Given the description of an element on the screen output the (x, y) to click on. 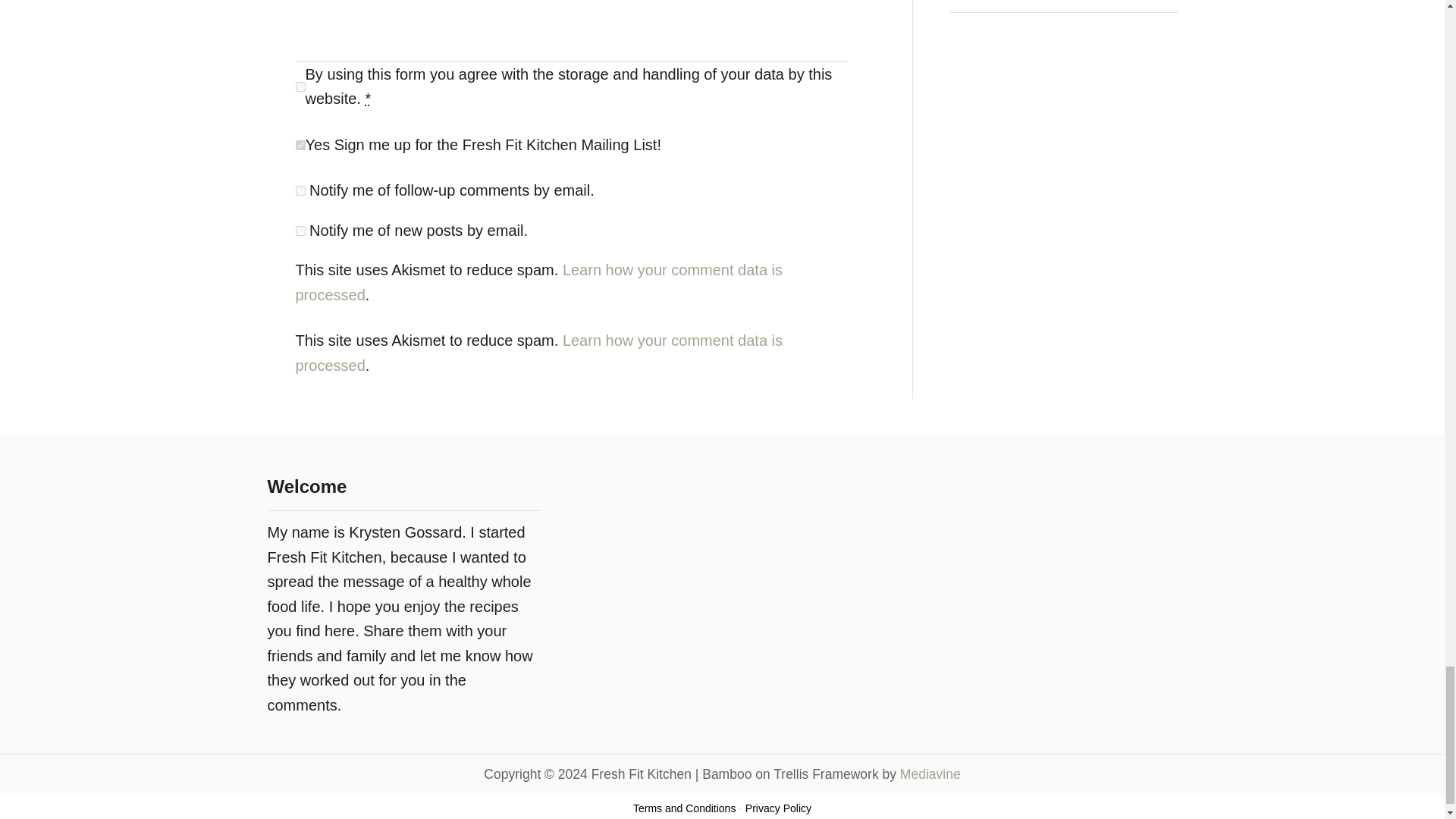
subscribe (300, 230)
1 (300, 144)
subscribe (300, 190)
